Given the description of an element on the screen output the (x, y) to click on. 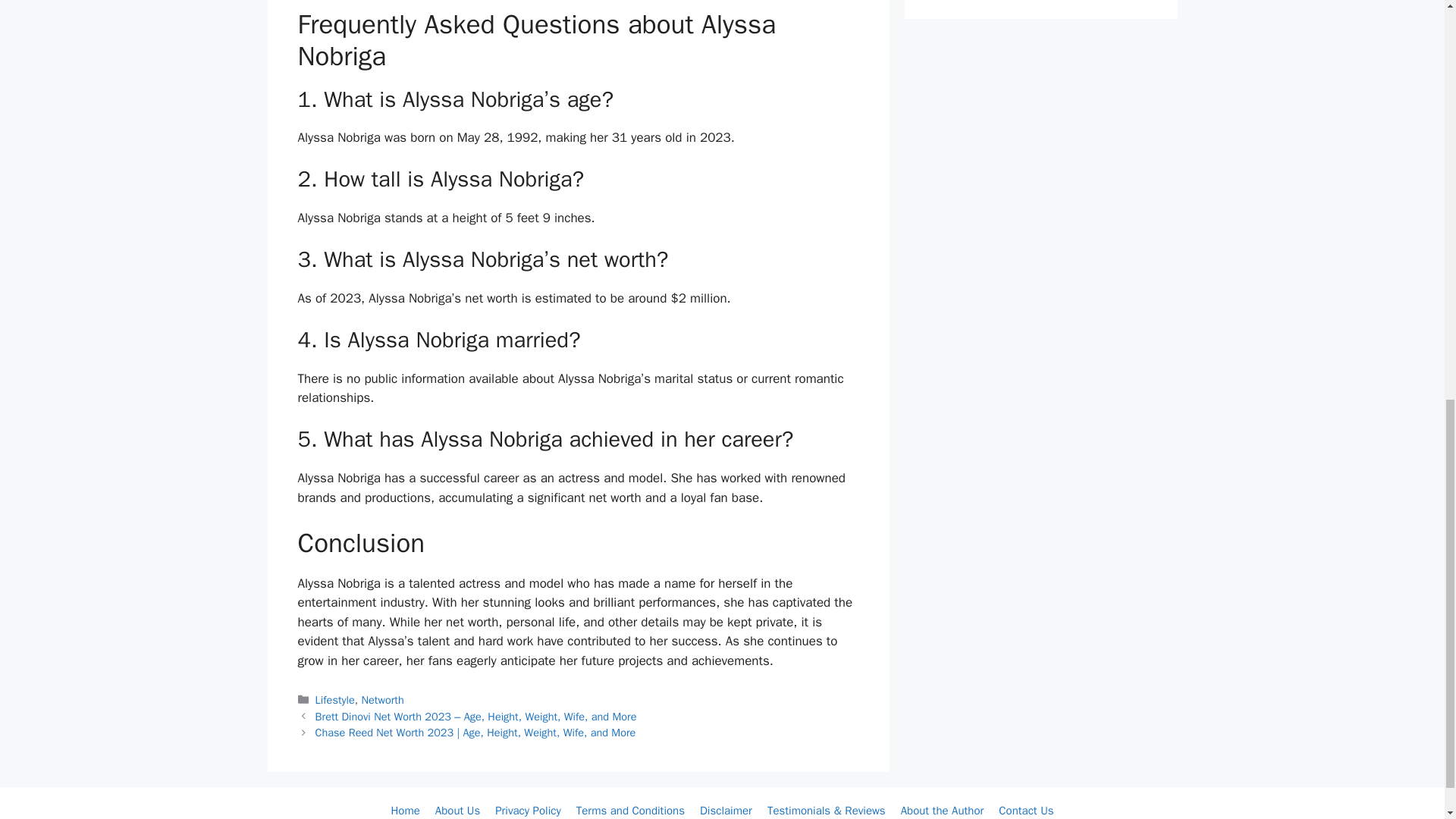
Networth (382, 699)
Privacy Policy (527, 810)
Home (404, 810)
Lifestyle (335, 699)
Terms and Conditions (630, 810)
Disclaimer (726, 810)
Scroll back to top (1406, 720)
About Us (457, 810)
